Given the description of an element on the screen output the (x, y) to click on. 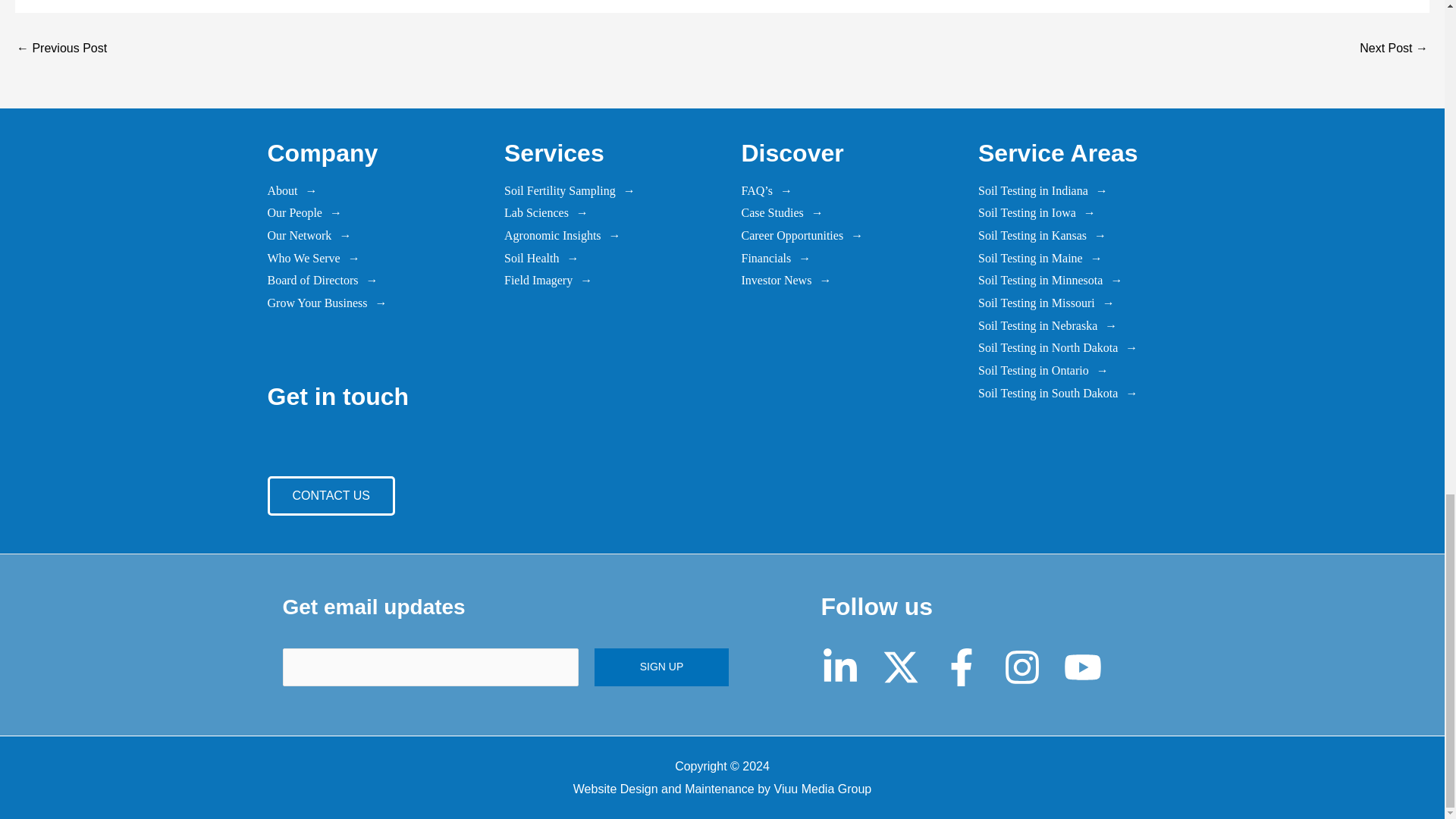
SIGN UP (661, 667)
